Given the description of an element on the screen output the (x, y) to click on. 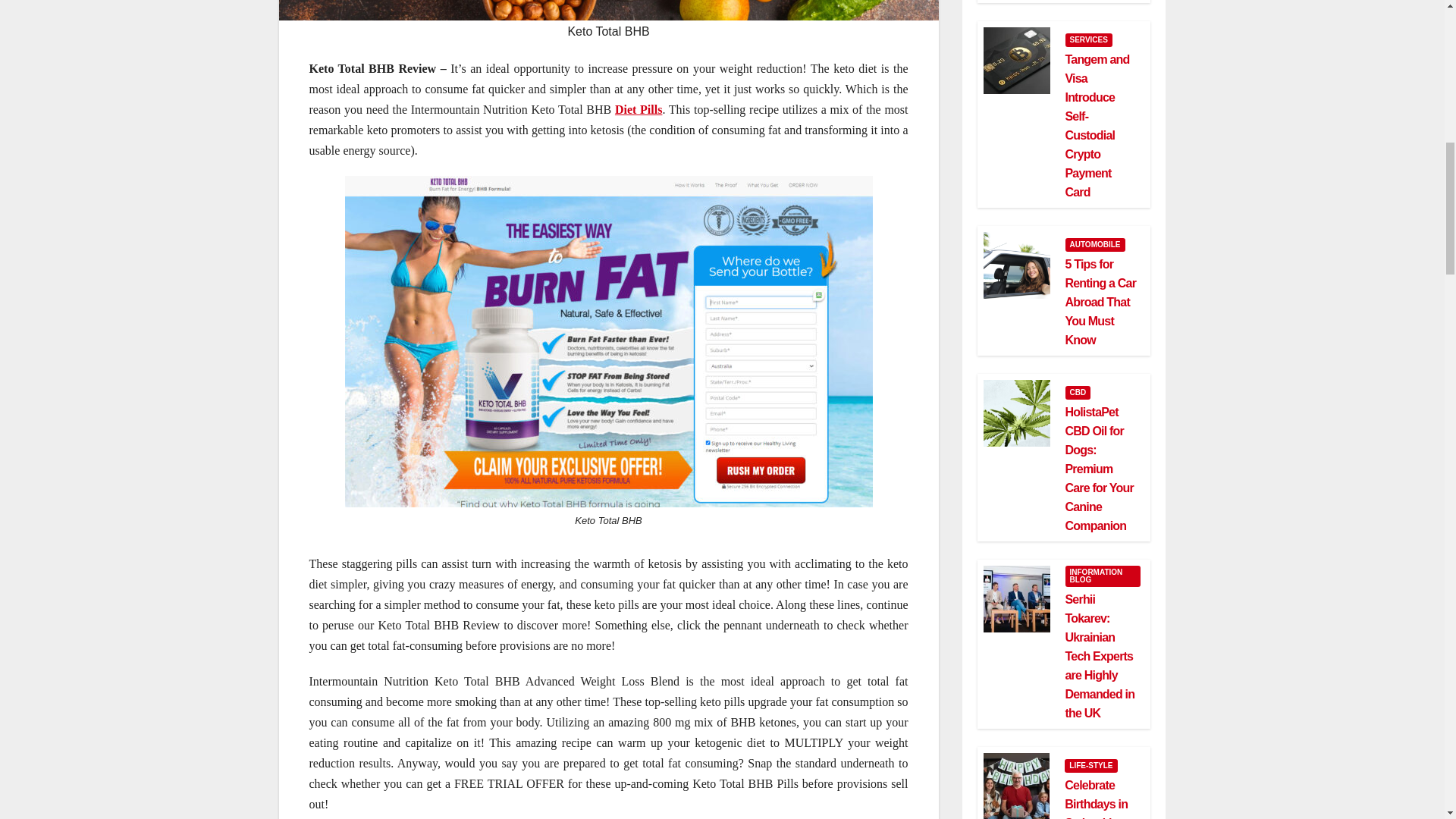
Diet Pills (638, 109)
